Given the description of an element on the screen output the (x, y) to click on. 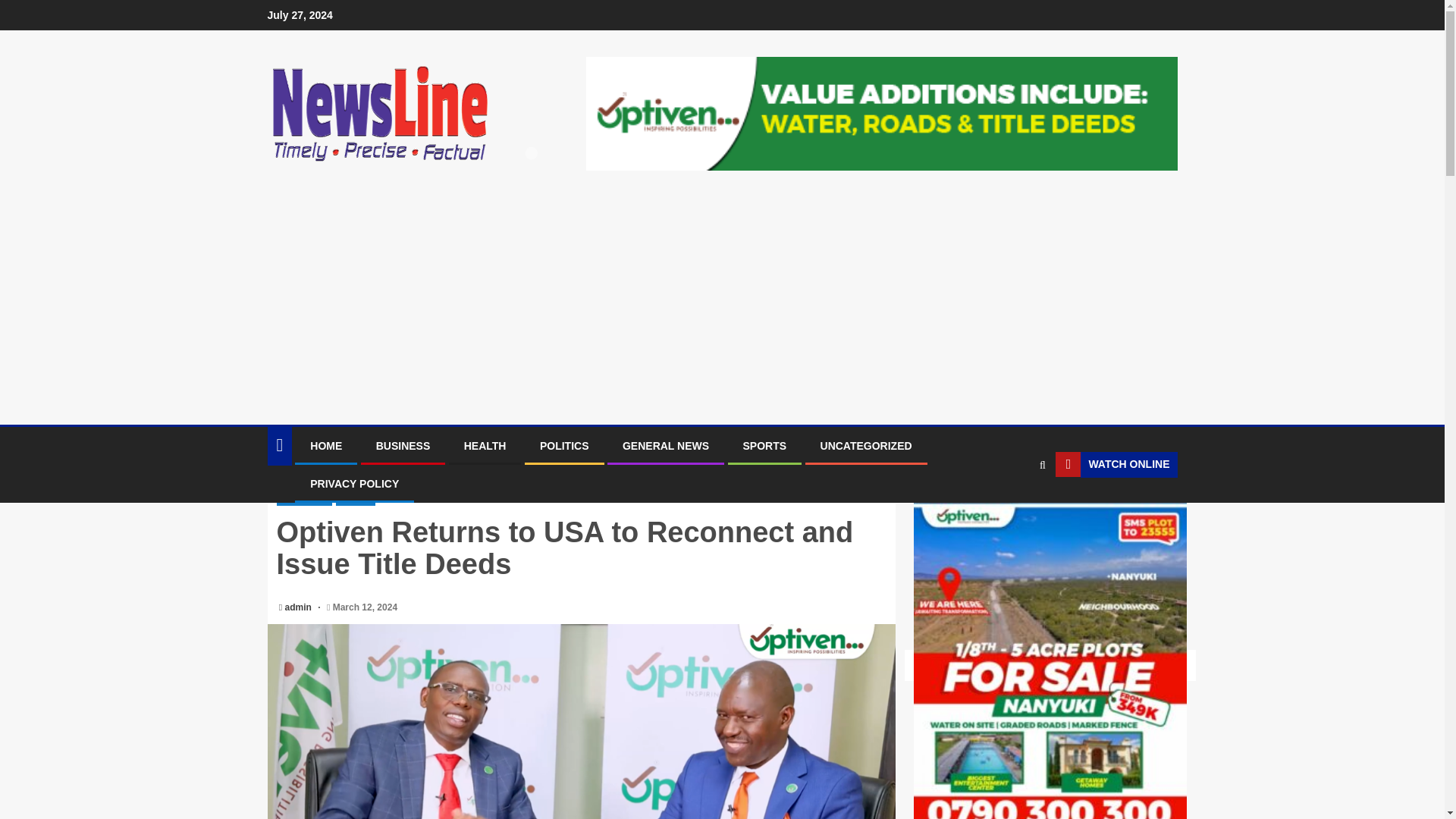
PRIVACY POLICY (354, 483)
WATCH ONLINE (1115, 464)
GENERAL NEWS (666, 445)
BUSINESS (402, 445)
NEWS (355, 498)
BUSINESS (303, 498)
Search (1013, 510)
HOME (326, 445)
HEALTH (485, 445)
POLITICS (564, 445)
admin (299, 606)
UNCATEGORIZED (866, 445)
SPORTS (764, 445)
